Given the description of an element on the screen output the (x, y) to click on. 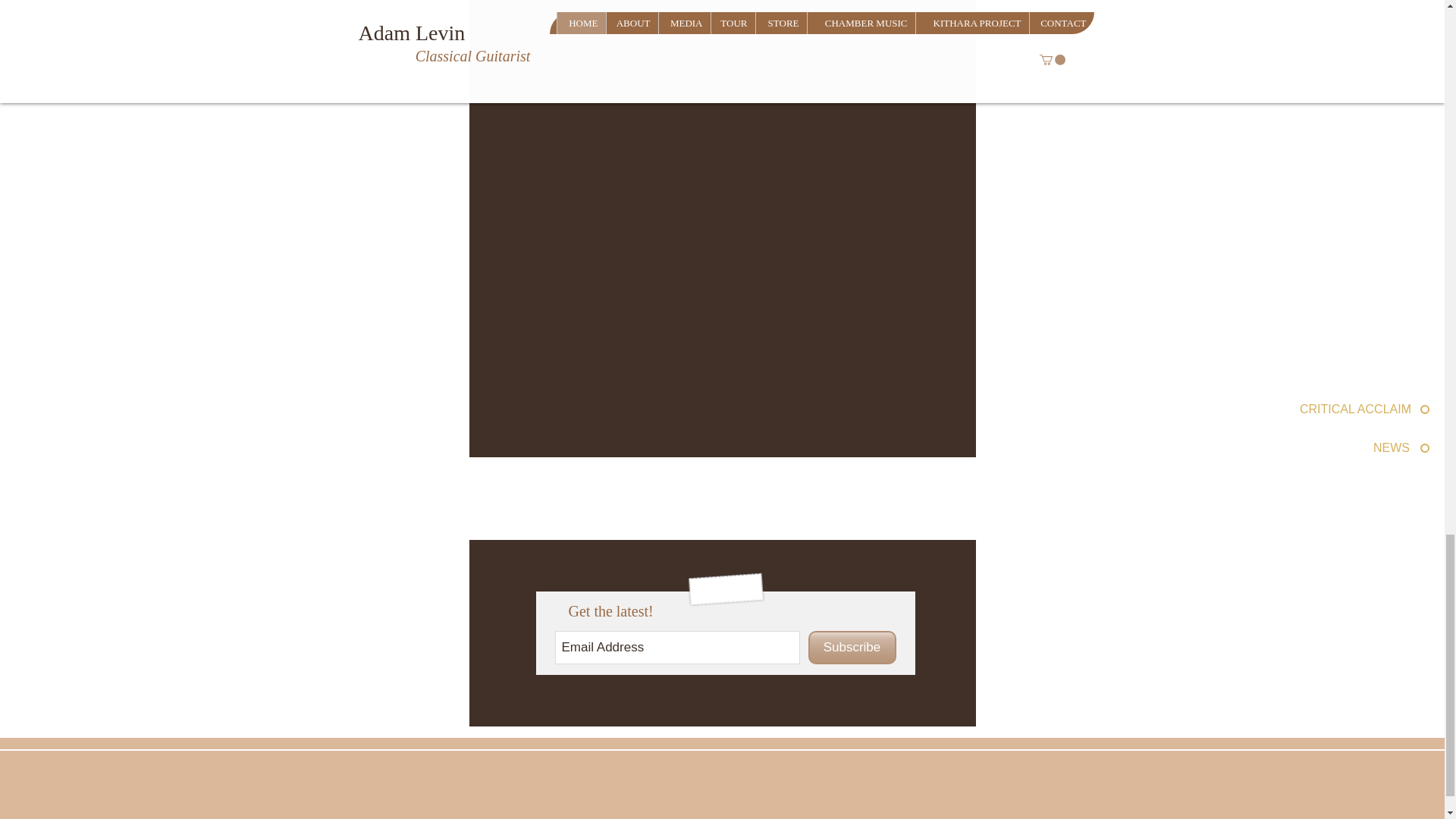
Subscribe (852, 647)
